Given the description of an element on the screen output the (x, y) to click on. 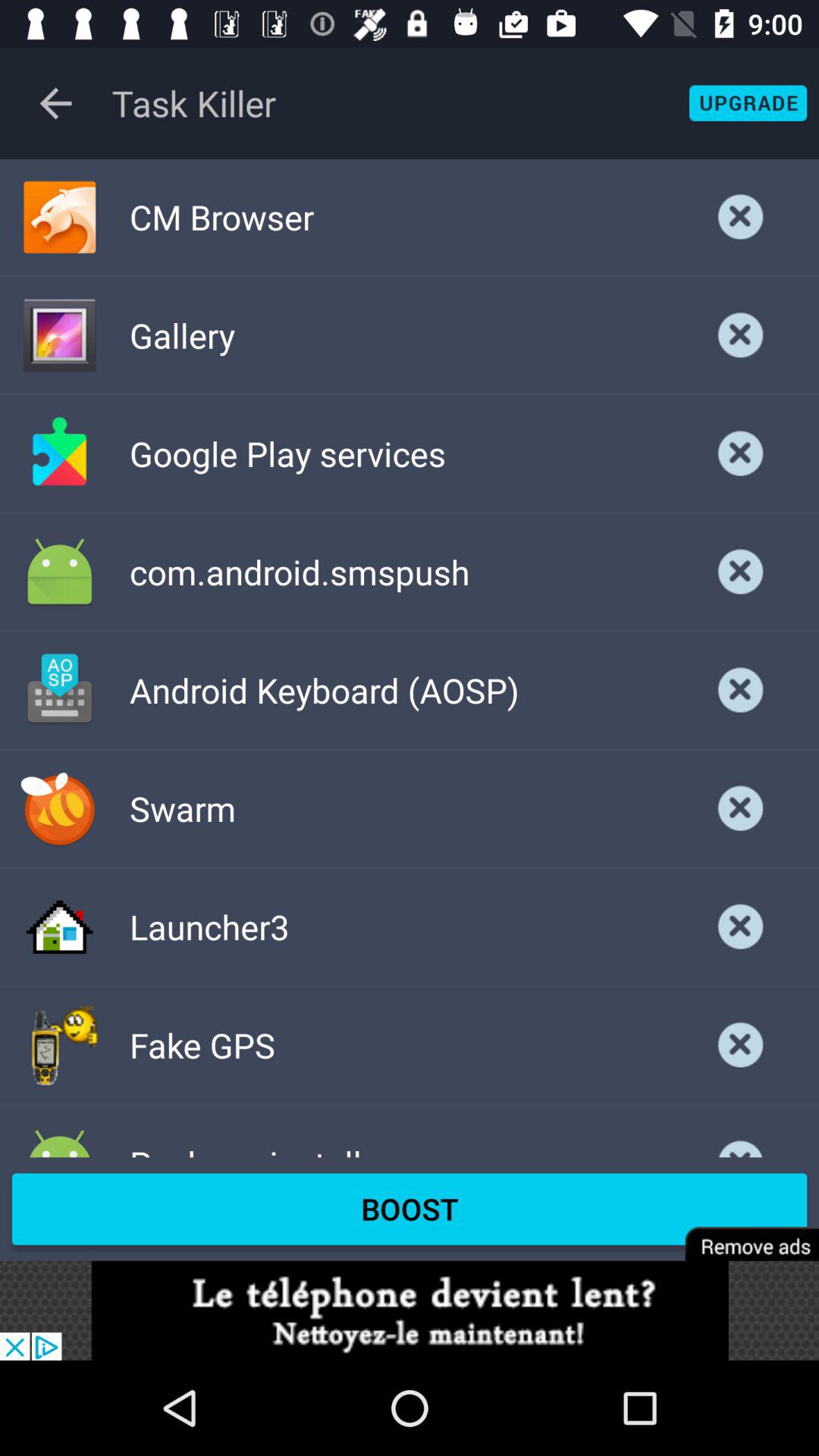
delete the program (740, 808)
